Given the description of an element on the screen output the (x, y) to click on. 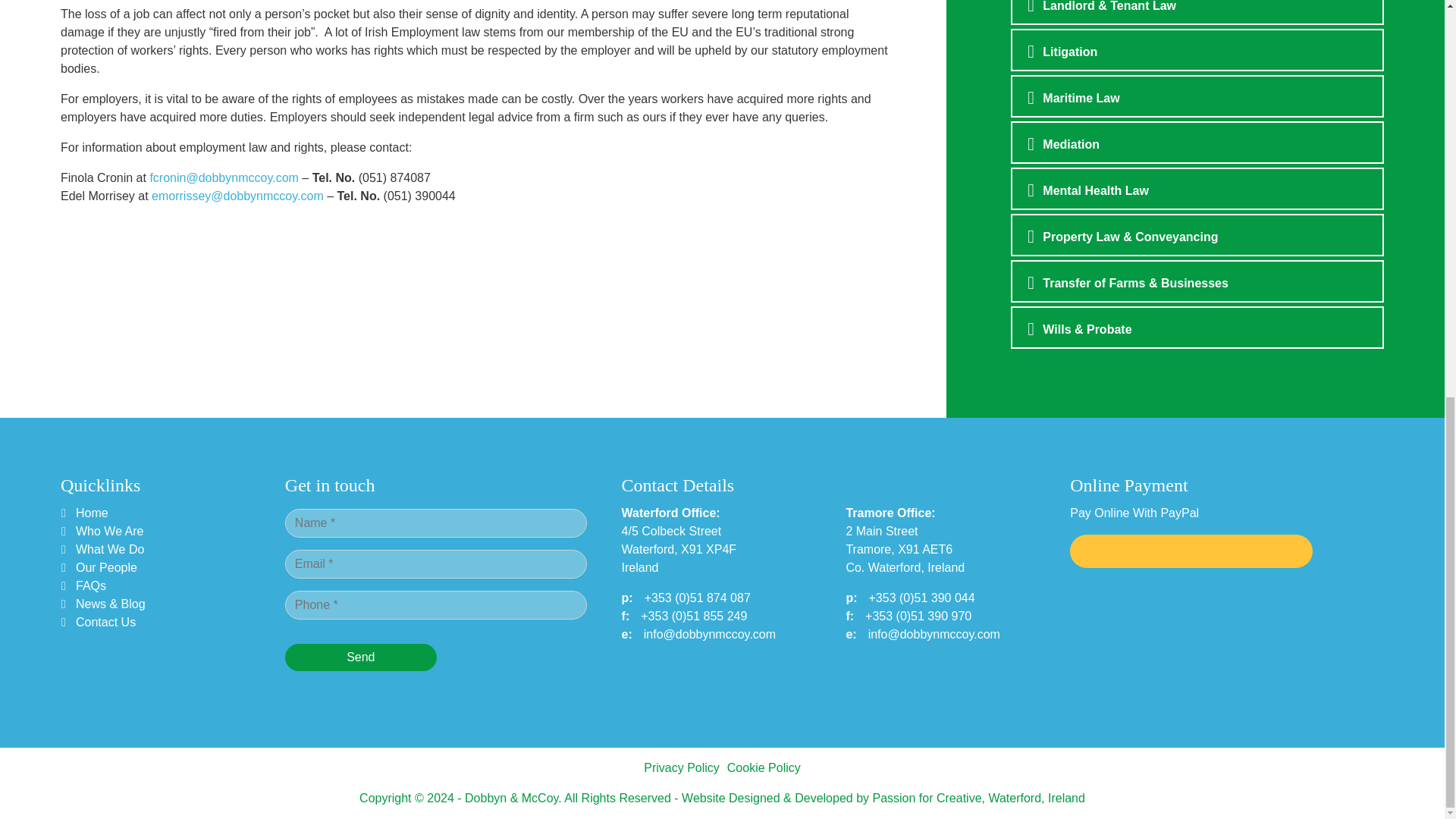
Send (360, 656)
